Given the description of an element on the screen output the (x, y) to click on. 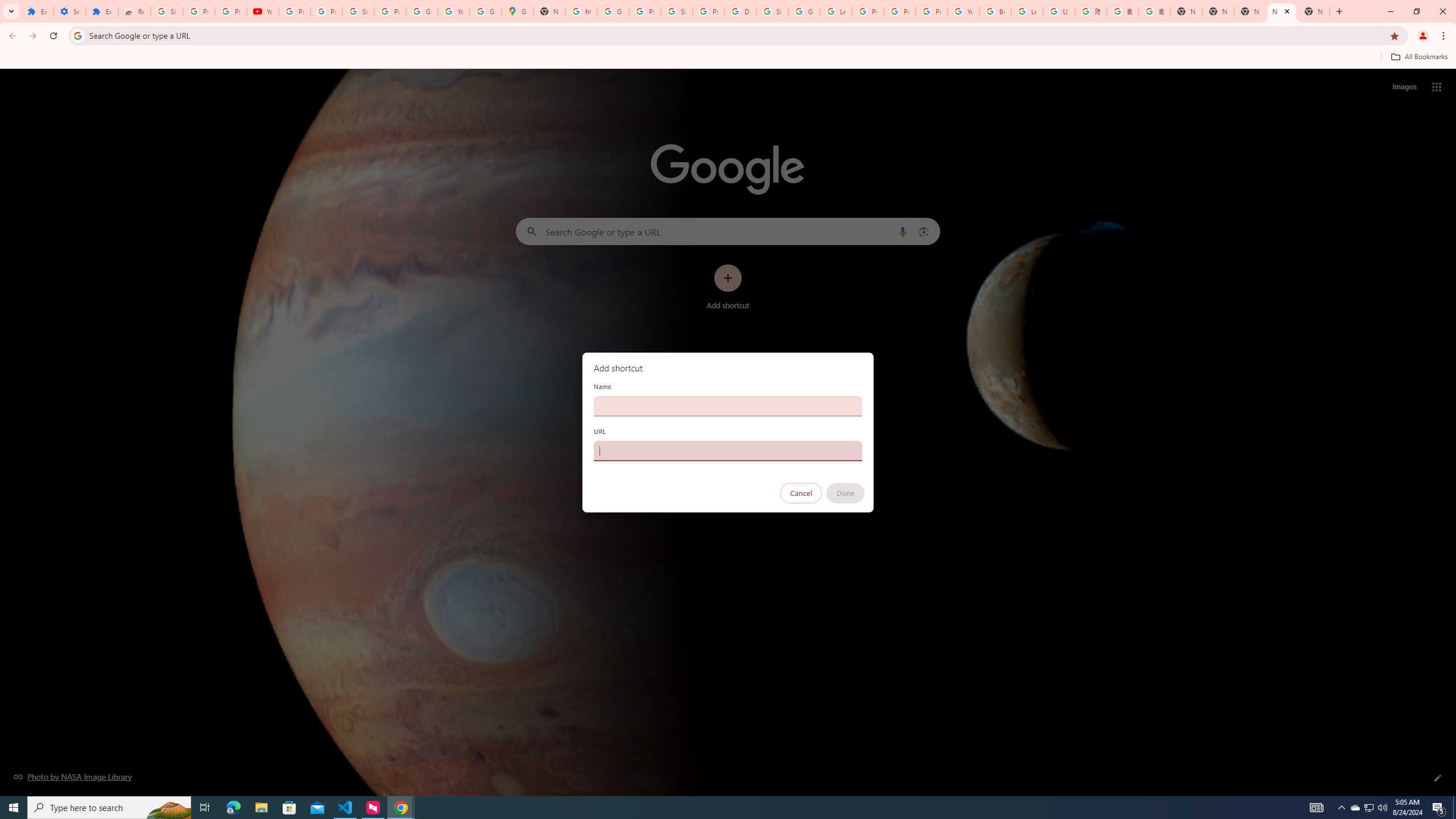
Extensions (37, 11)
Done (845, 493)
Sign in - Google Accounts (166, 11)
